Given the description of an element on the screen output the (x, y) to click on. 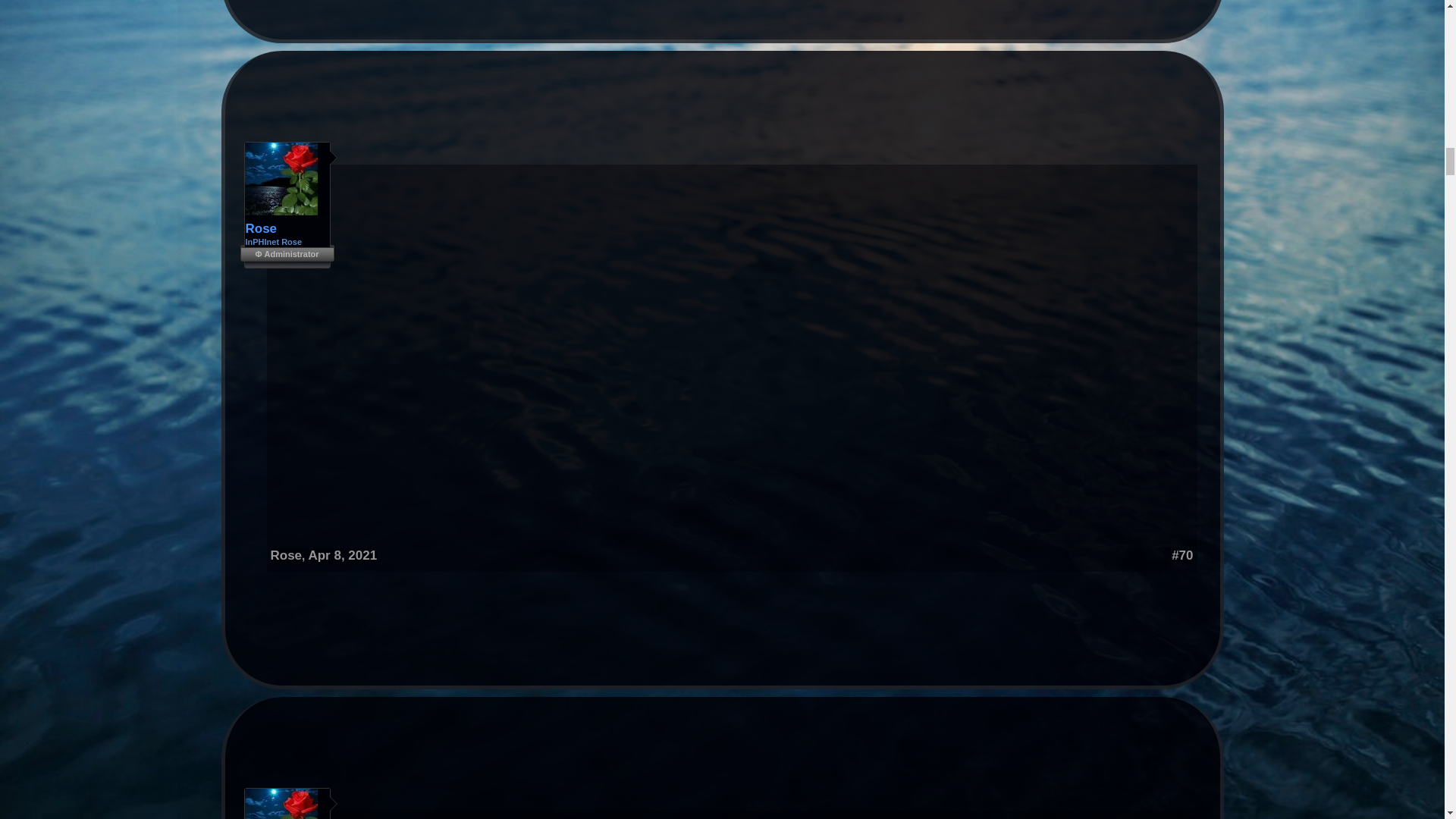
Permalink (342, 554)
